Given the description of an element on the screen output the (x, y) to click on. 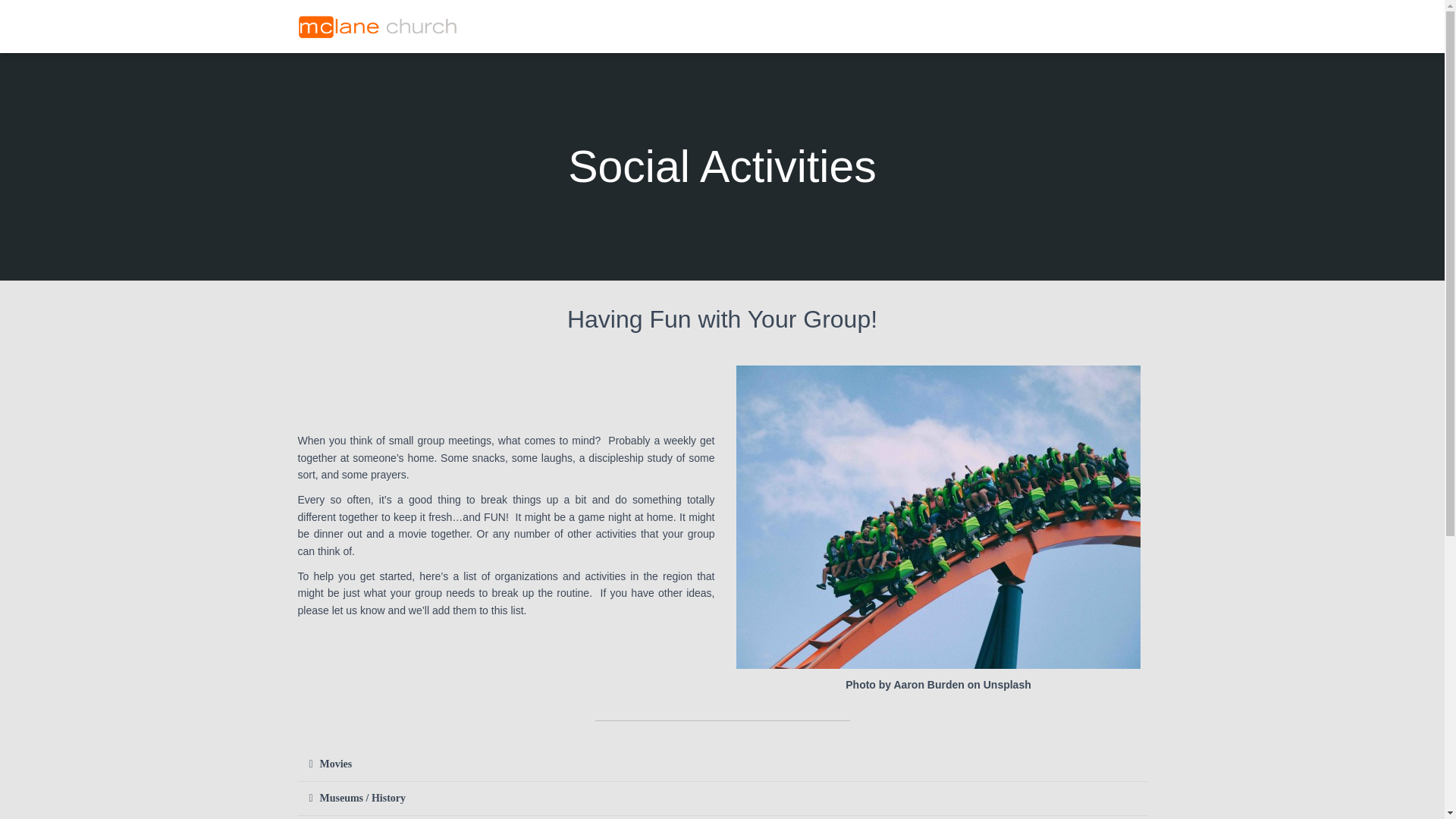
Watch and Listen (763, 26)
Resources (977, 26)
Welcome (514, 26)
What's Happening (878, 26)
Connect (673, 26)
Next Steps (594, 26)
Movies (336, 763)
McLane Church (379, 26)
